Given the description of an element on the screen output the (x, y) to click on. 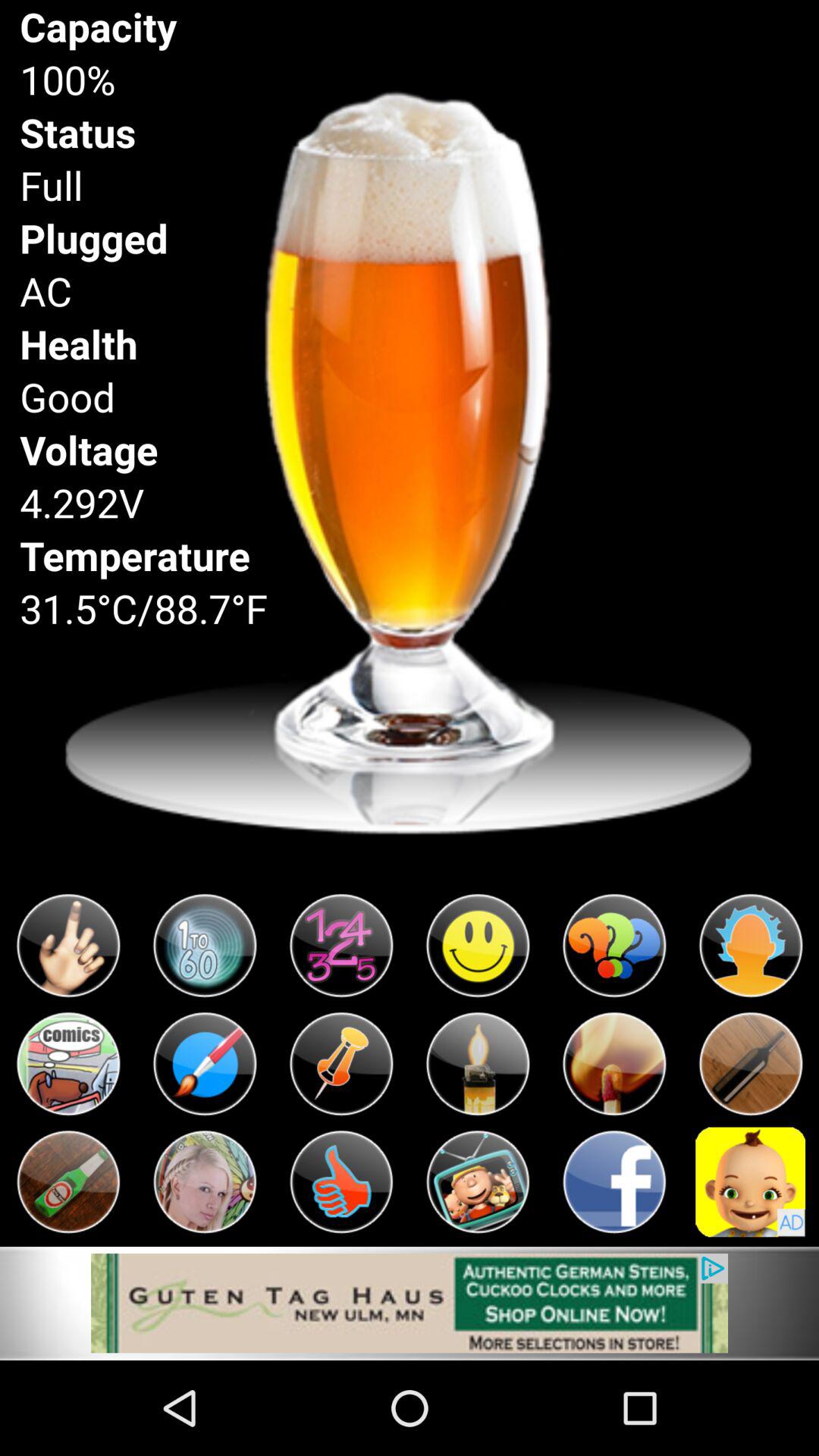
like (341, 1182)
